Given the description of an element on the screen output the (x, y) to click on. 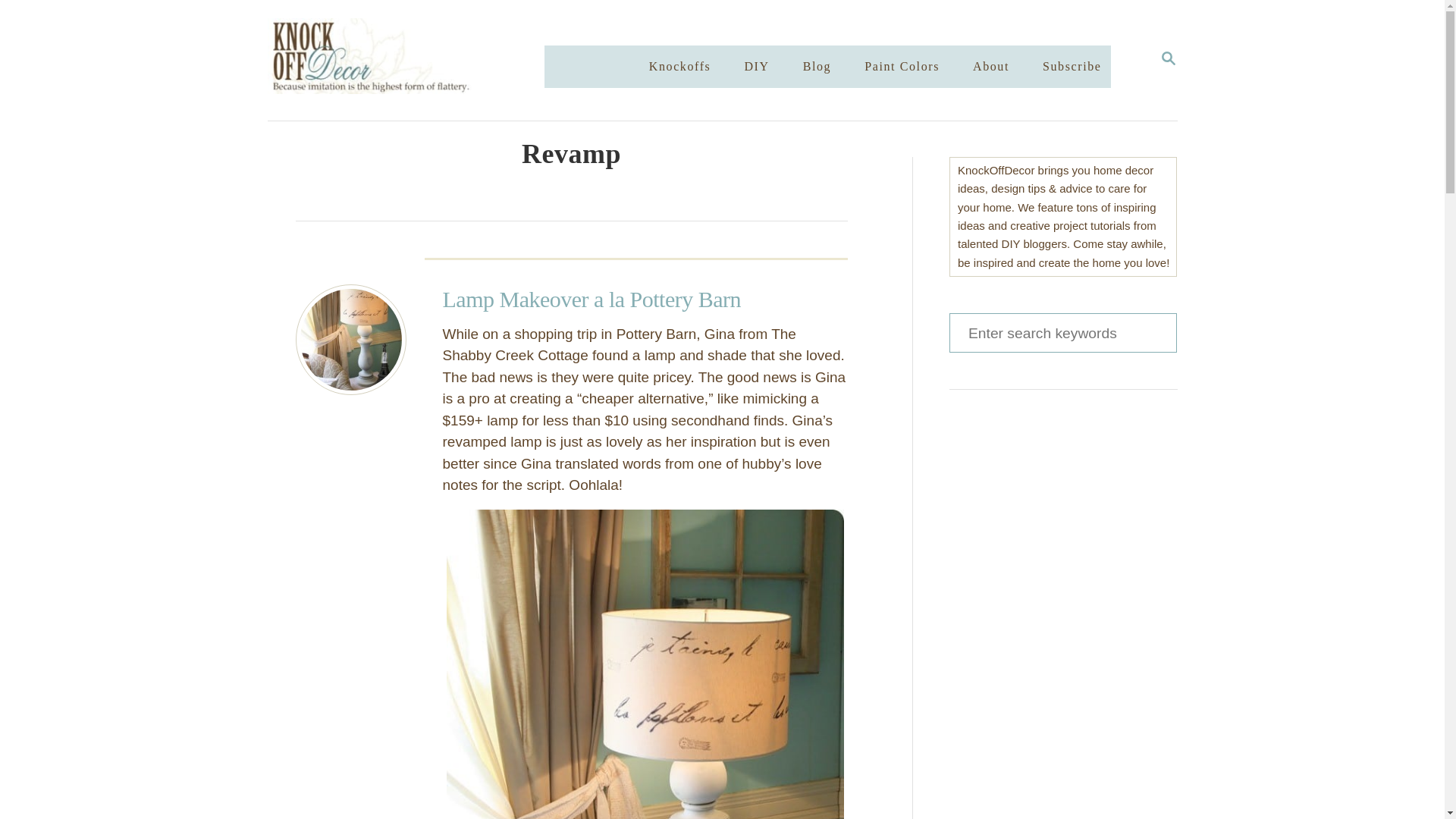
About (990, 66)
lamp makeover (644, 662)
Paint Colors (902, 66)
Lamp Makeover a la Pottery Barn (350, 339)
MAGNIFYING GLASS (1167, 58)
Search for: (1062, 332)
Knockoffs (680, 66)
DIY (756, 66)
Subscribe (1071, 66)
KnockOffDecor.com (420, 60)
